Given the description of an element on the screen output the (x, y) to click on. 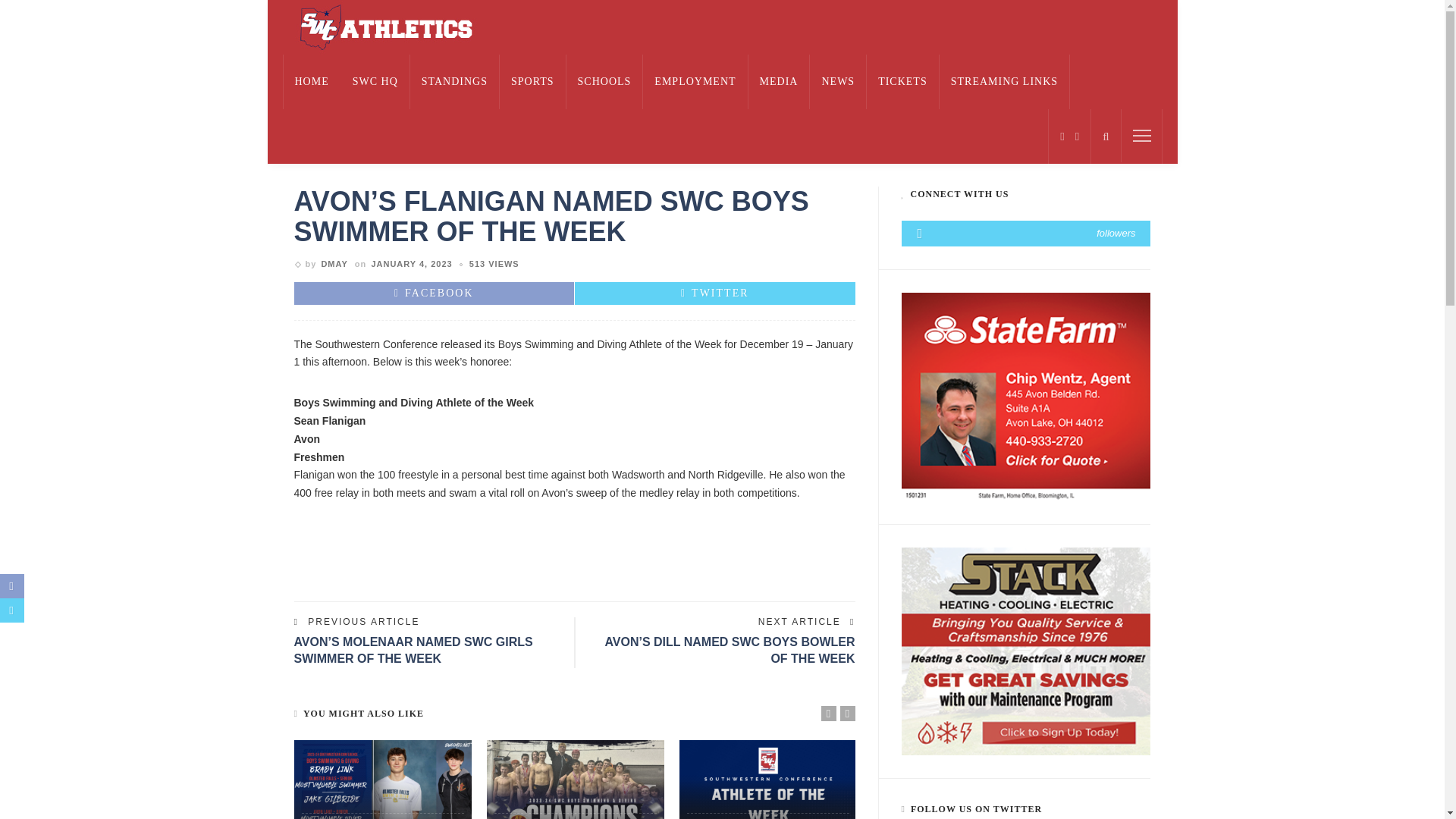
2023-24 All-SWC Boys Swimming and Diving Honors (382, 779)
SWC Athletics (384, 26)
